Given the description of an element on the screen output the (x, y) to click on. 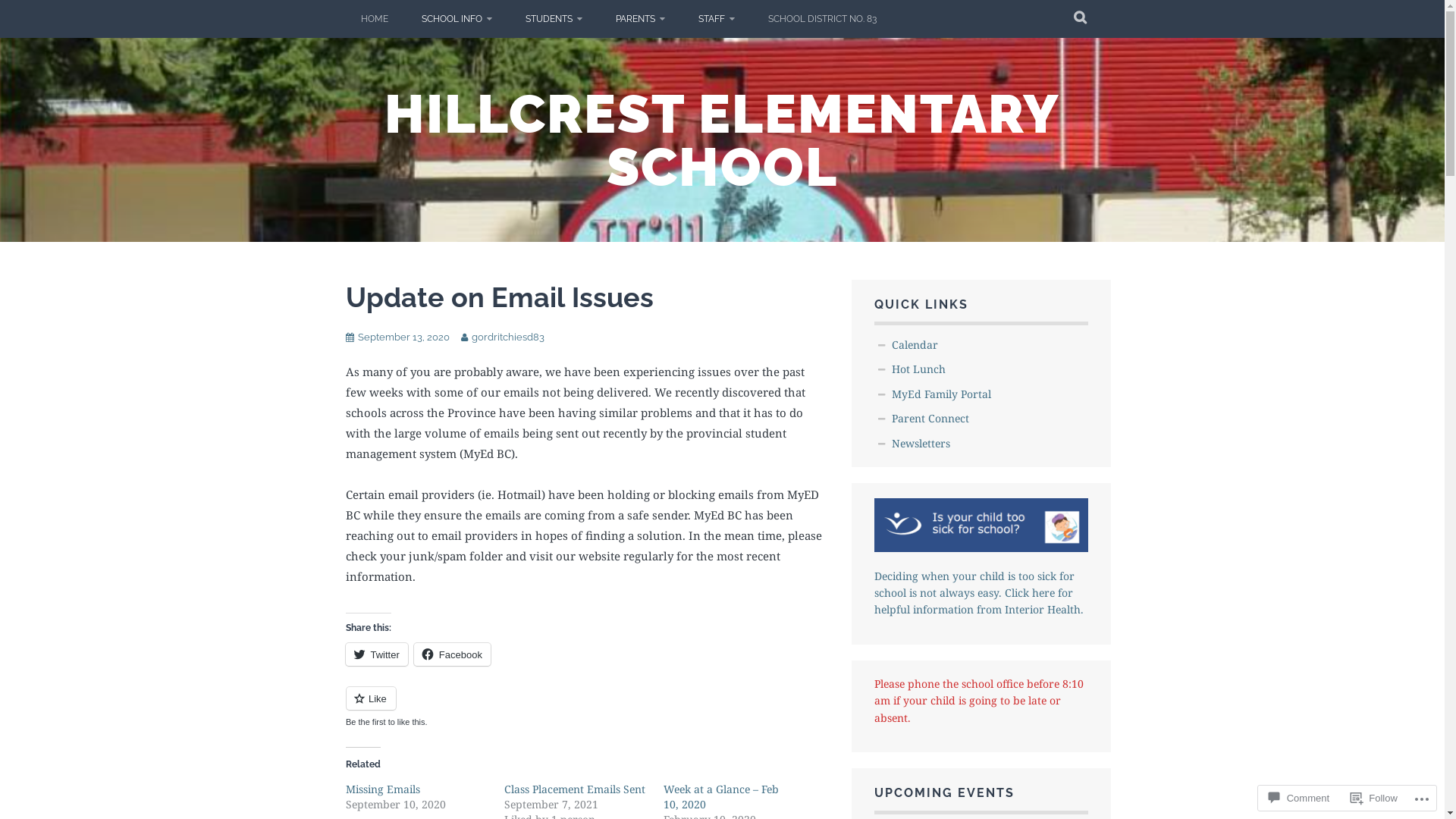
Update on Email Issues Element type: text (499, 296)
STUDENTS Element type: text (552, 18)
SCHOOL INFO Element type: text (456, 18)
September 13, 2020 Element type: text (403, 336)
Follow Element type: text (1373, 797)
Calendar Element type: text (914, 344)
Twitter Element type: text (376, 654)
Facebook Element type: text (452, 654)
Hot Lunch Element type: text (918, 368)
PARENTS Element type: text (640, 18)
SCHOOL DISTRICT NO. 83 Element type: text (821, 18)
HILLCREST ELEMENTARY SCHOOL Element type: text (722, 139)
MyEd Family Portal Element type: text (941, 393)
Like or Reblog Element type: hover (586, 707)
Newsletters Element type: text (920, 443)
HOME Element type: text (374, 18)
Comment Element type: text (1298, 797)
gordritchiesd83 Element type: text (507, 336)
STAFF Element type: text (715, 18)
Class Placement Emails Sent Element type: text (574, 788)
Missing Emails Element type: text (382, 788)
Parent Connect Element type: text (930, 418)
